Given the description of an element on the screen output the (x, y) to click on. 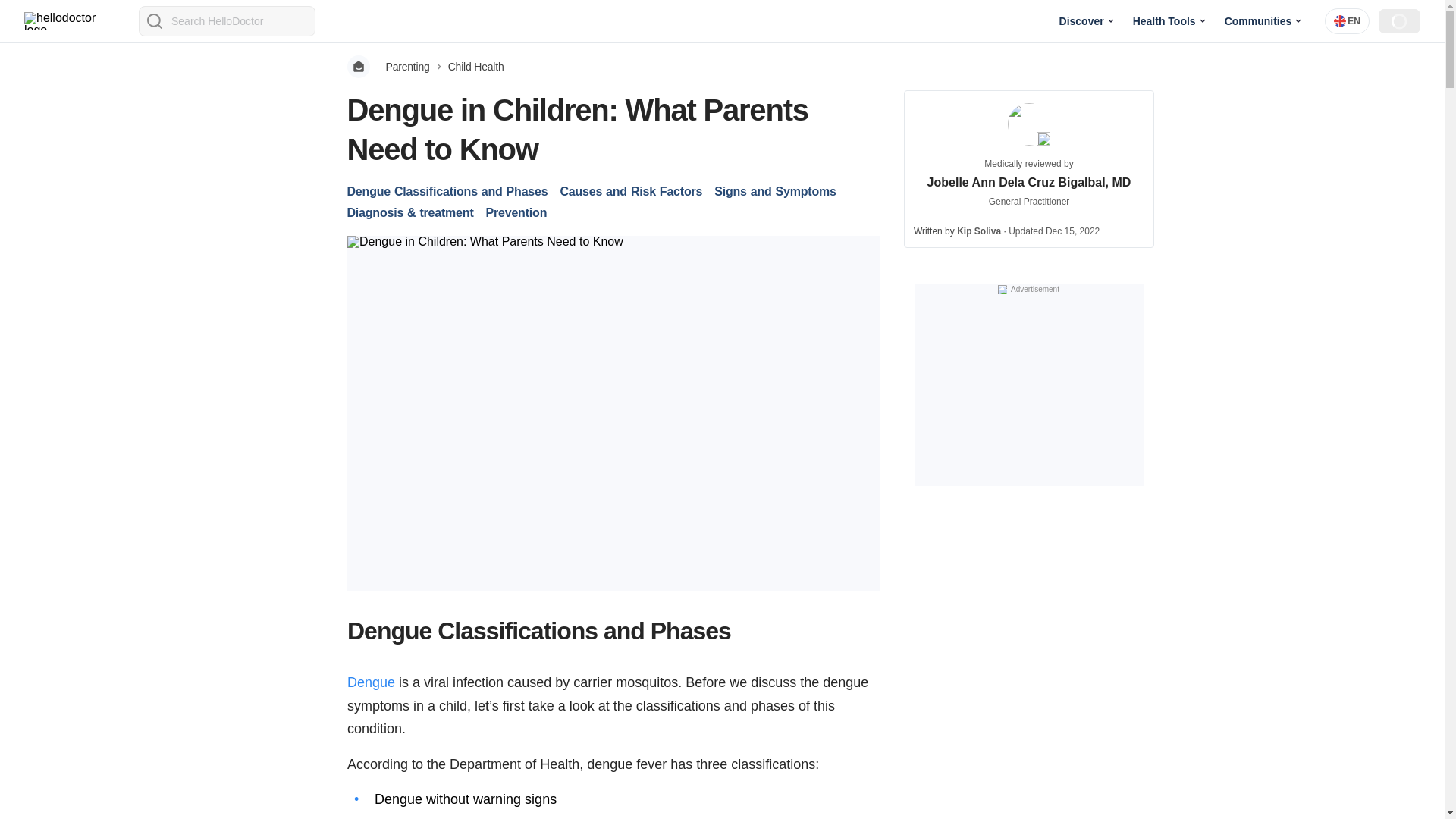
Dengue Fever Symptoms and Prevention (370, 682)
Child Health (475, 66)
EN (1347, 21)
Parenting (407, 66)
